Given the description of an element on the screen output the (x, y) to click on. 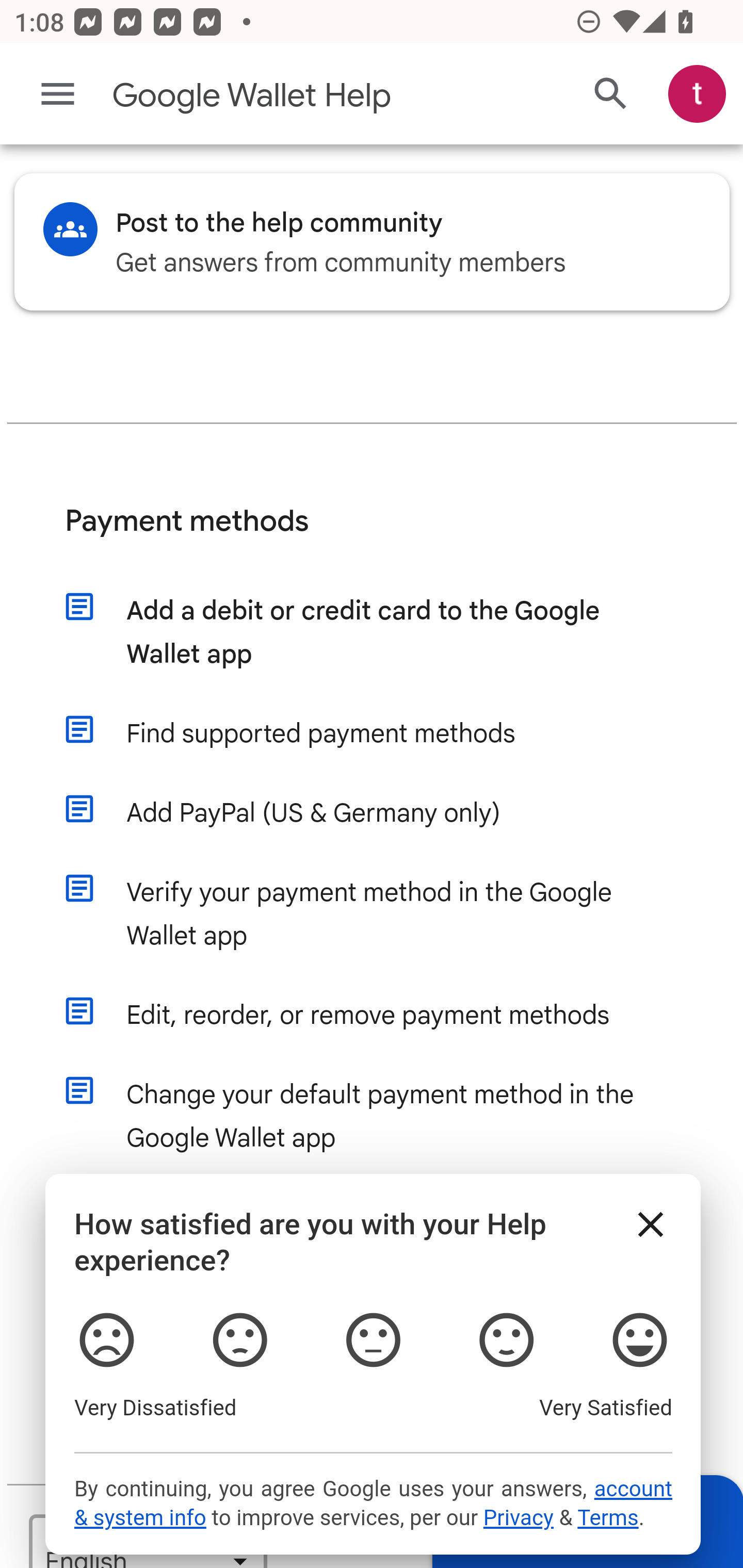
Main menu (58, 93)
Google Wallet Help (292, 96)
Search Help Center (611, 94)
Payment methods Payment methods Payment methods (372, 536)
Find supported payment methods (390, 735)
Add PayPal (US & Germany only) (390, 815)
Edit, reorder, or remove payment methods (390, 1017)
Close user survey dialog (650, 1226)
Smiley 1 of 5. Very dissatisfied Very Dissatisfied (106, 1342)
Smiley 2 of 5. Somewhat dissatisfied (238, 1342)
Smiley 3 of 5. Neither satisfied nor dissatisfied (372, 1342)
Smiley 4 of 5. Somewhat satisfied (506, 1342)
Smiley 5 of 5. Very satisfied Very Satisfied (639, 1342)
account & system info (372, 1504)
Privacy, Opens in new tab Privacy (518, 1518)
Terms, Opens in new tab Terms (606, 1518)
